Given the description of an element on the screen output the (x, y) to click on. 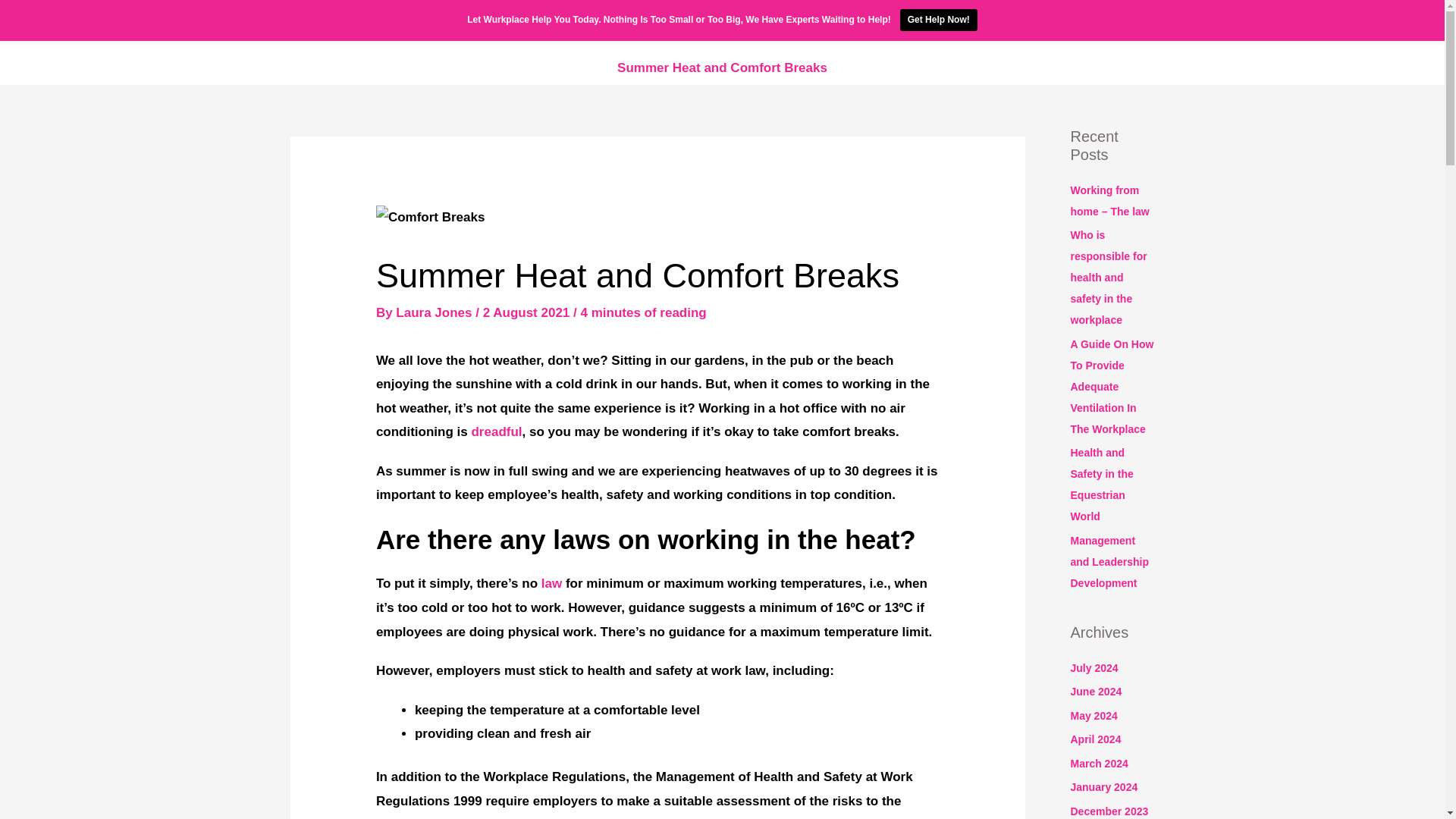
View all posts by Laura Jones (436, 312)
